Given the description of an element on the screen output the (x, y) to click on. 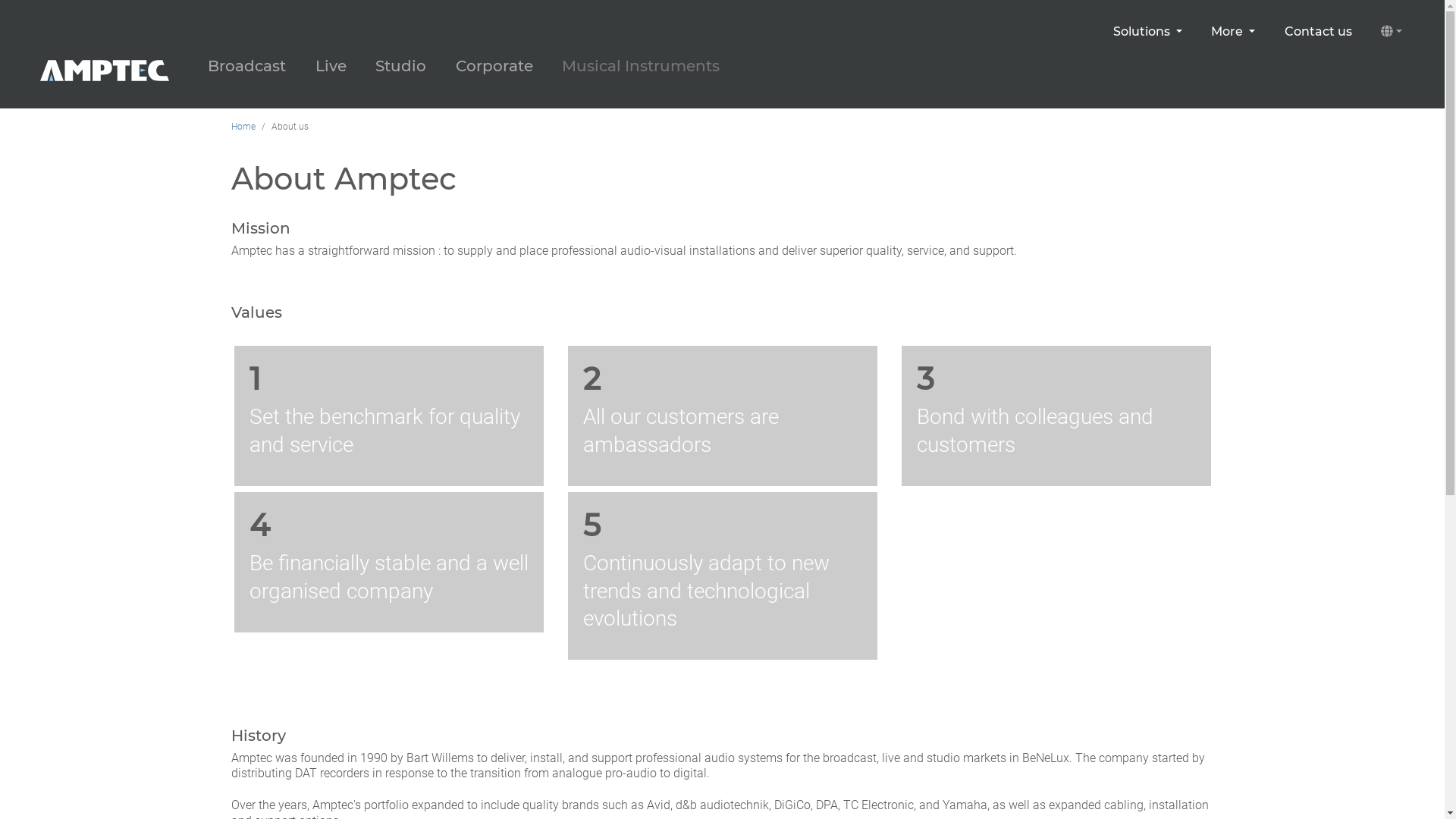
Corporate Element type: text (494, 67)
More Element type: text (1232, 31)
Broadcast Element type: text (246, 67)
Contact us Element type: text (1318, 31)
Live Element type: text (330, 67)
Home Element type: text (242, 126)
Musical Instruments Element type: text (640, 67)
Solutions Element type: text (1147, 31)
Studio Element type: text (400, 67)
